Given the description of an element on the screen output the (x, y) to click on. 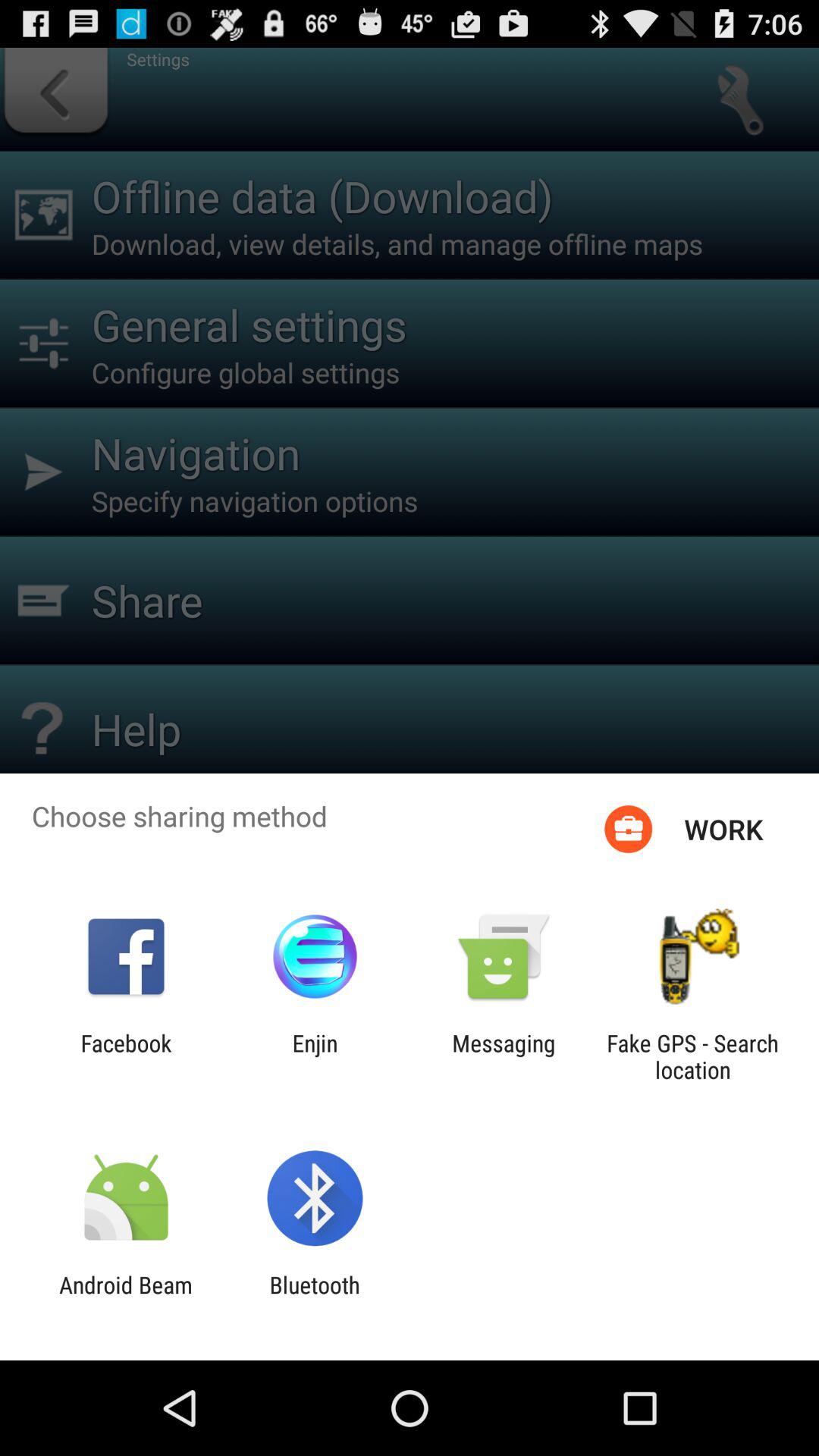
turn on the icon to the right of messaging (692, 1056)
